Given the description of an element on the screen output the (x, y) to click on. 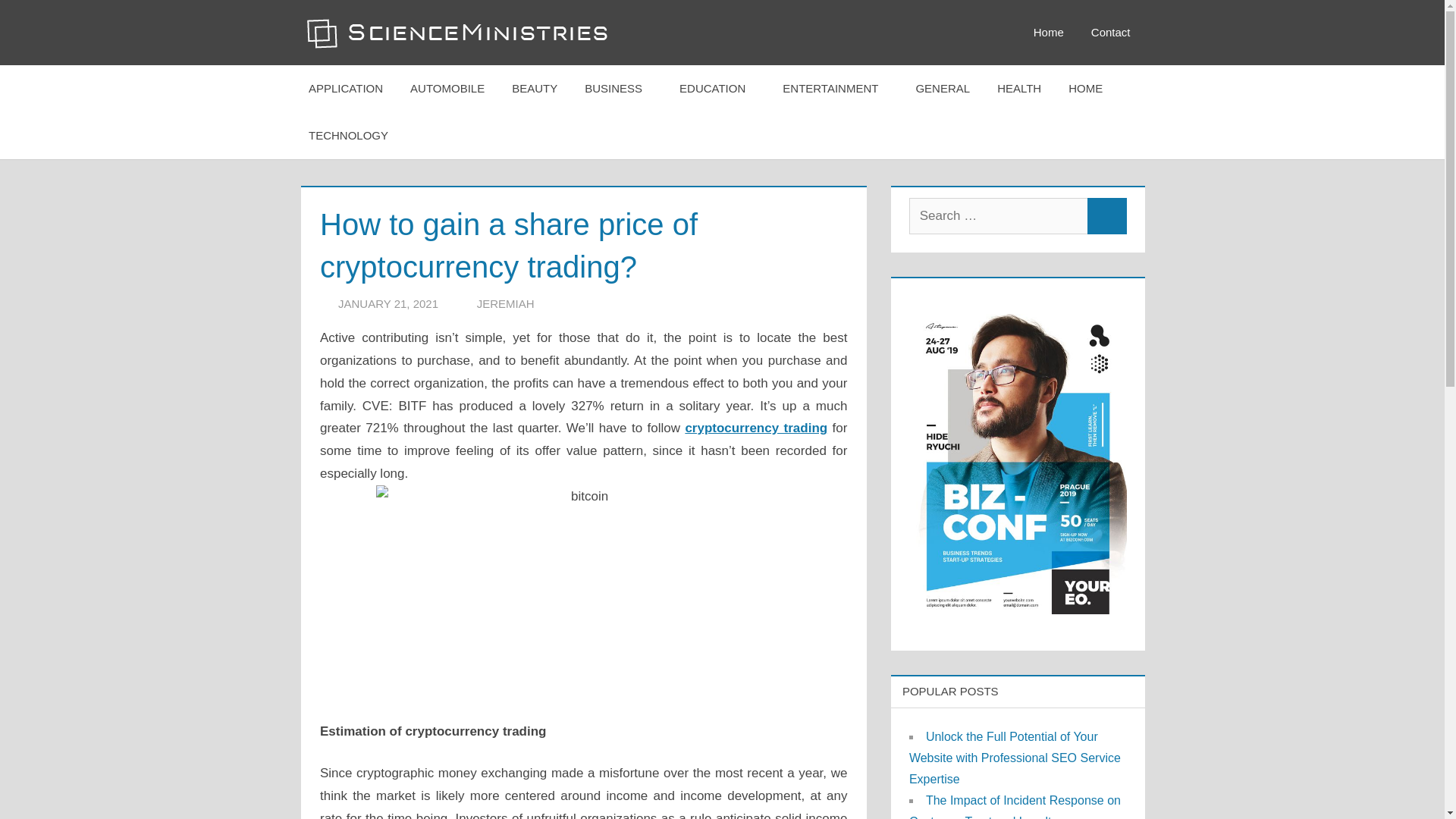
Contact (1110, 32)
HOME (1089, 88)
BEAUTY (533, 88)
BUSINESS (617, 88)
APPLICATION (345, 88)
ENTERTAINMENT (834, 88)
EDUCATION (716, 88)
AUTOMOBILE (446, 88)
View all posts by Jeremiah (505, 303)
11:20 am (387, 303)
Home (1048, 32)
HEALTH (1019, 88)
Search for: (997, 216)
TECHNOLOGY (353, 135)
GENERAL (942, 88)
